Given the description of an element on the screen output the (x, y) to click on. 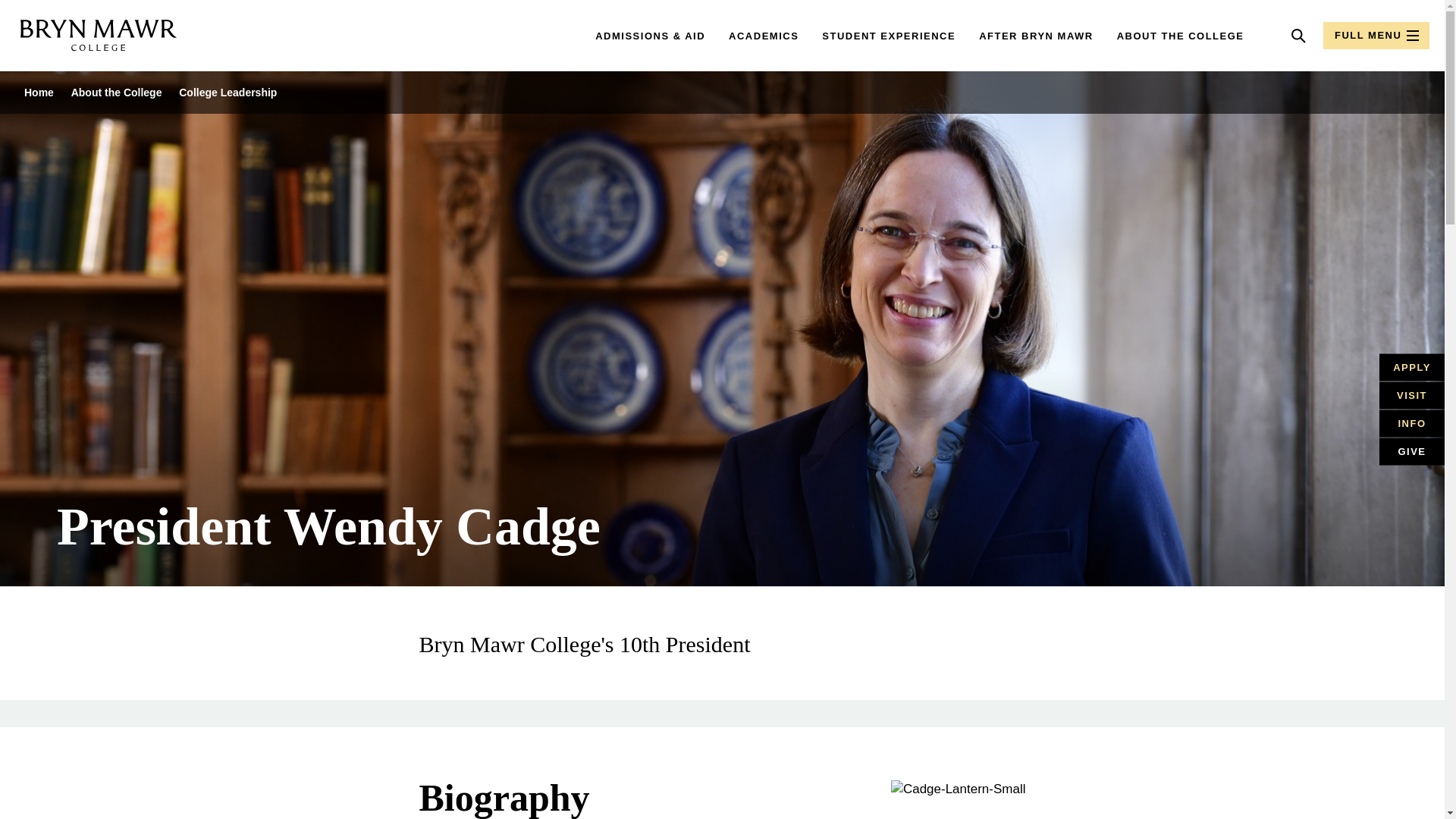
INFO (1411, 422)
submit (1243, 36)
ACADEMICS (763, 35)
STUDENT EXPERIENCE (888, 35)
Home (38, 92)
APPLY (1411, 367)
FULL MENU (1376, 35)
AFTER BRYN MAWR (1035, 35)
About the College (116, 92)
